Given the description of an element on the screen output the (x, y) to click on. 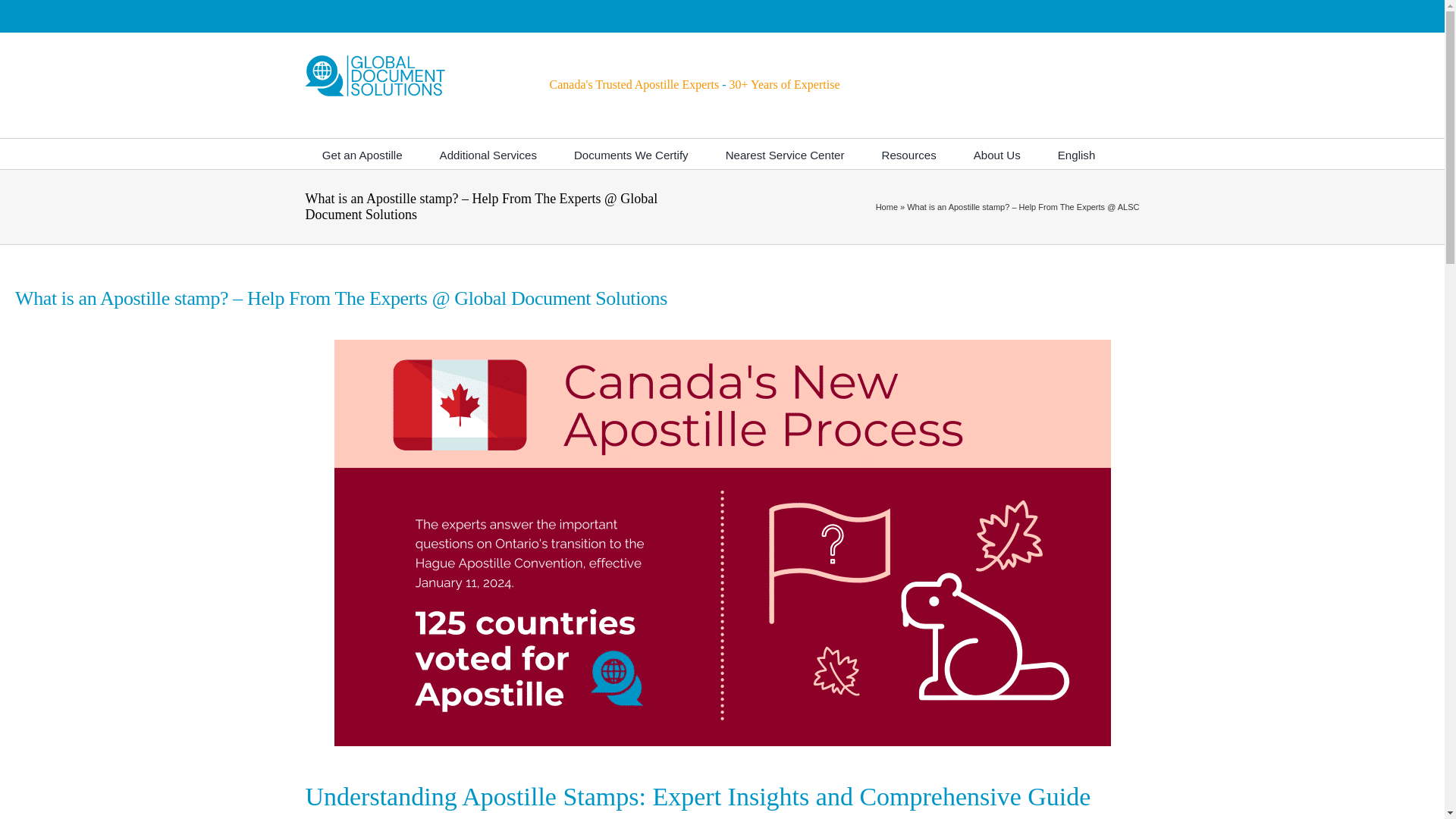
English (1077, 153)
Get an Apostille (362, 153)
Documents We Certify (630, 153)
Additional Services (488, 153)
